Given the description of an element on the screen output the (x, y) to click on. 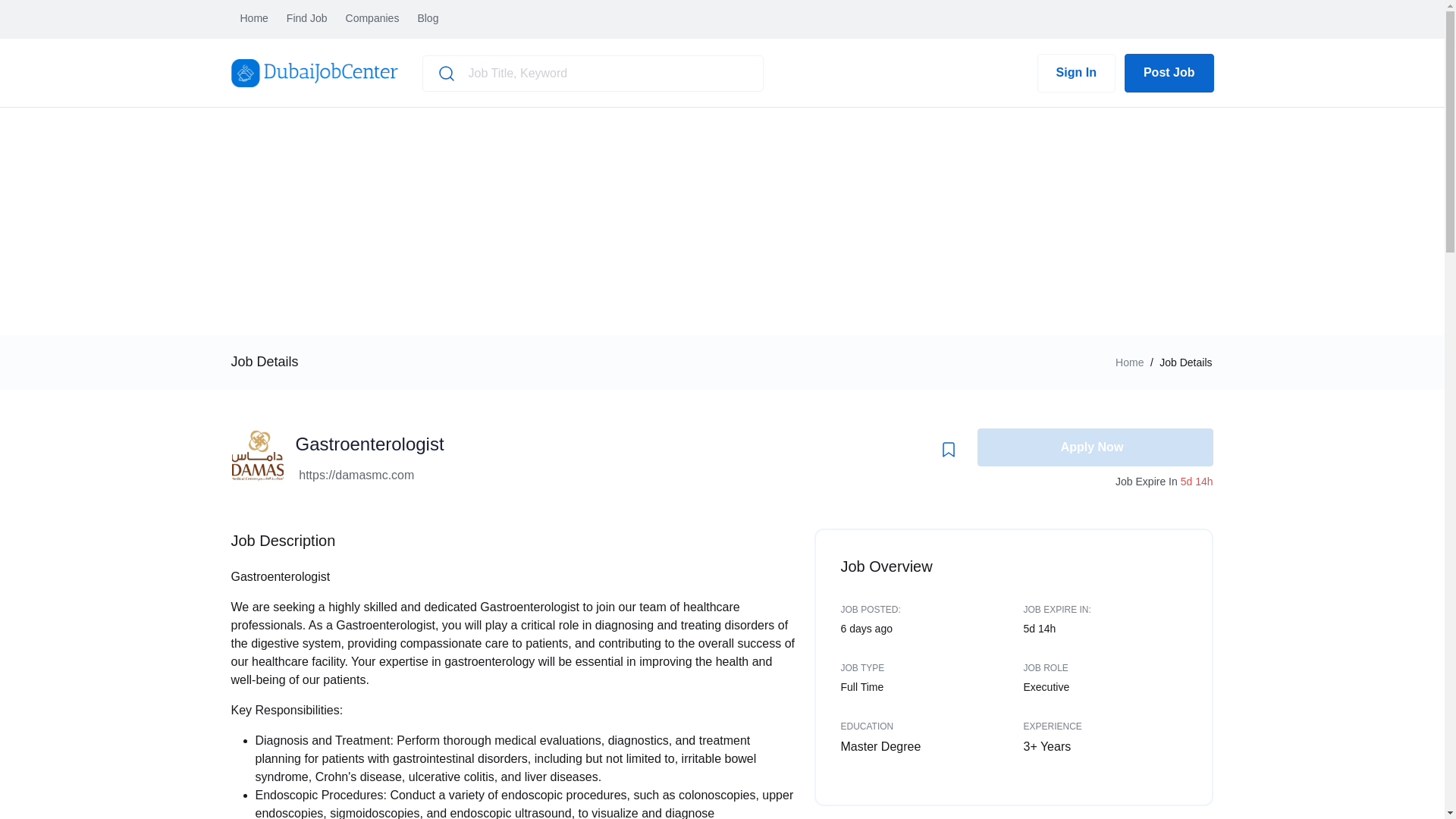
Home (1128, 362)
Post Job (1169, 73)
Gastroenterologist (369, 444)
Apply Now (1094, 447)
Find Job (306, 19)
Sign In (1075, 73)
Companies (372, 19)
